Given the description of an element on the screen output the (x, y) to click on. 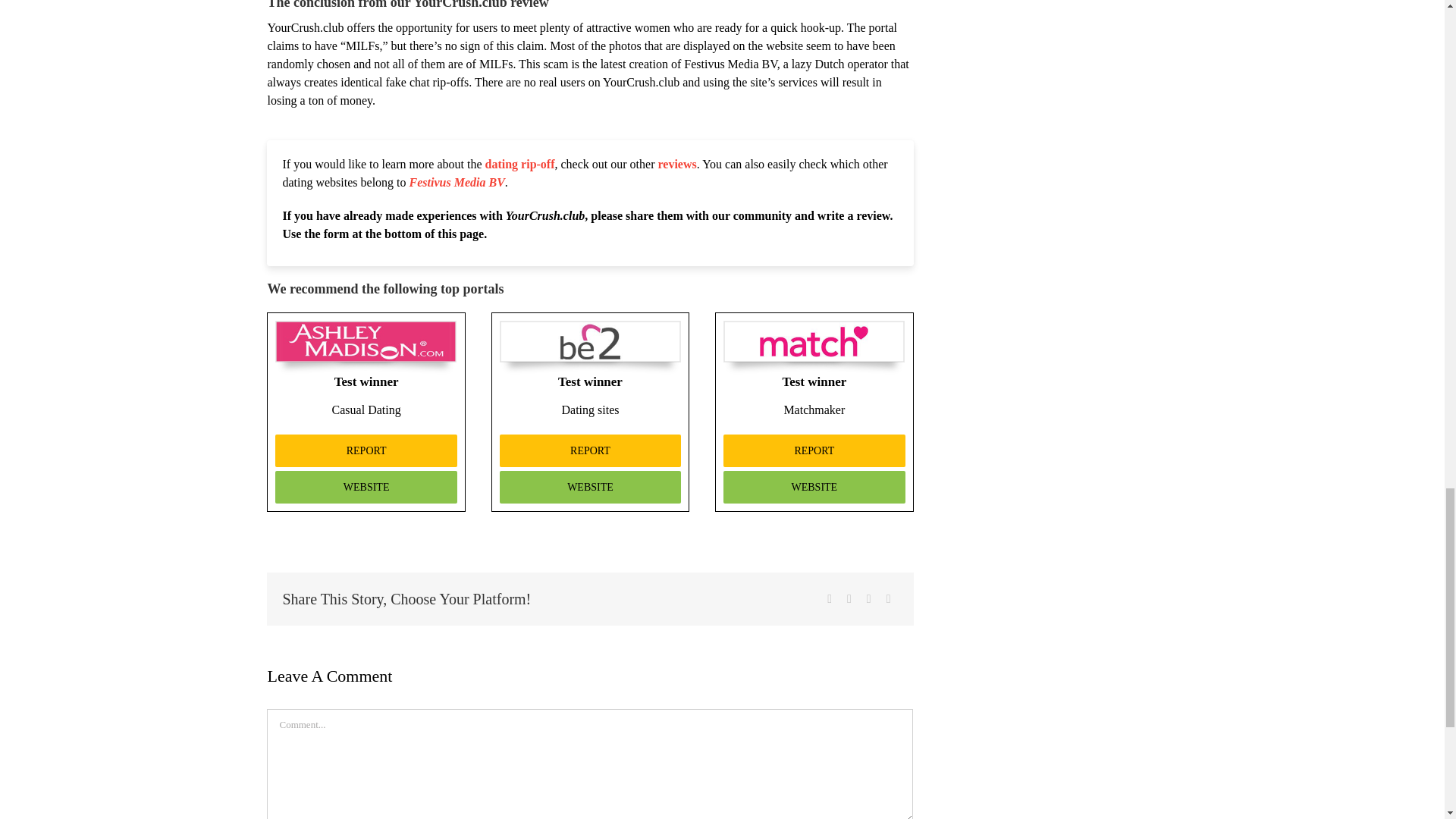
Report (366, 450)
Report (590, 450)
Report (813, 450)
Website (366, 486)
All reviews forFestivus Media BV (457, 182)
Website (590, 486)
Website (813, 486)
